Given the description of an element on the screen output the (x, y) to click on. 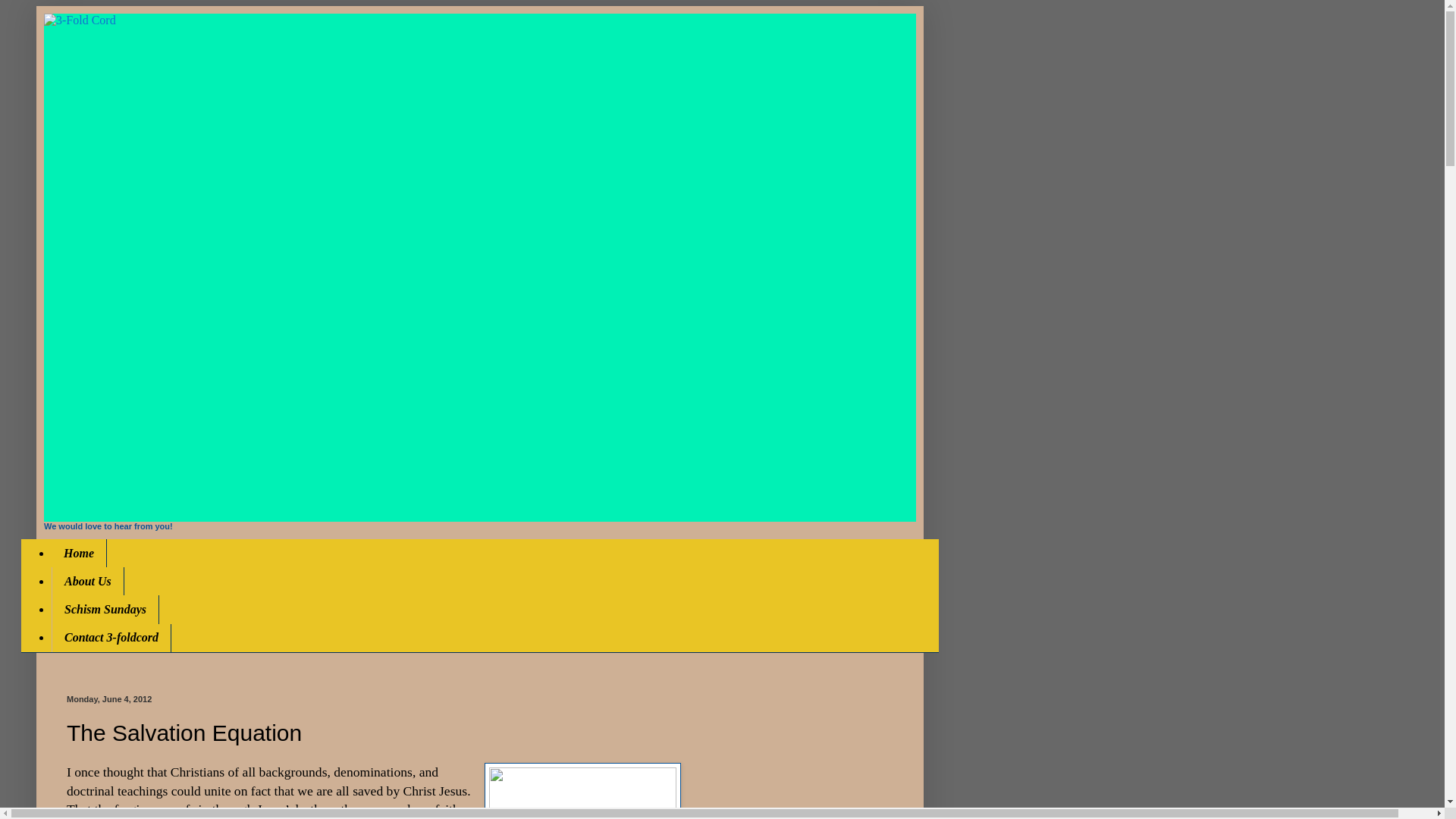
About Us Element type: text (87, 581)
Contact 3-foldcord Element type: text (111, 638)
Schism Sundays Element type: text (105, 609)
Home Element type: text (78, 553)
